Given the description of an element on the screen output the (x, y) to click on. 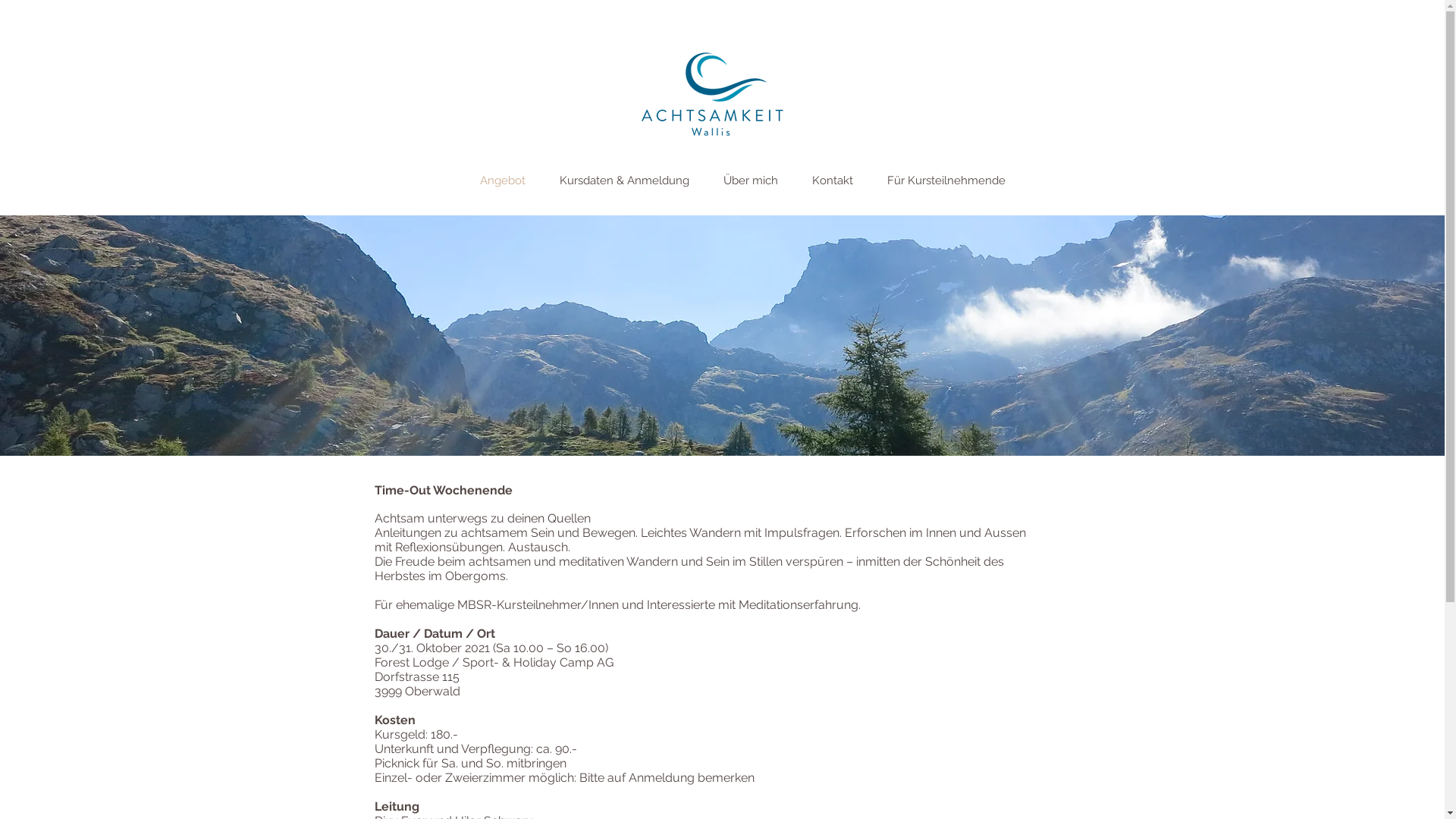
Kursdaten & Anmeldung Element type: text (633, 180)
Kontakt Element type: text (840, 180)
Angebot Element type: text (511, 180)
